Given the description of an element on the screen output the (x, y) to click on. 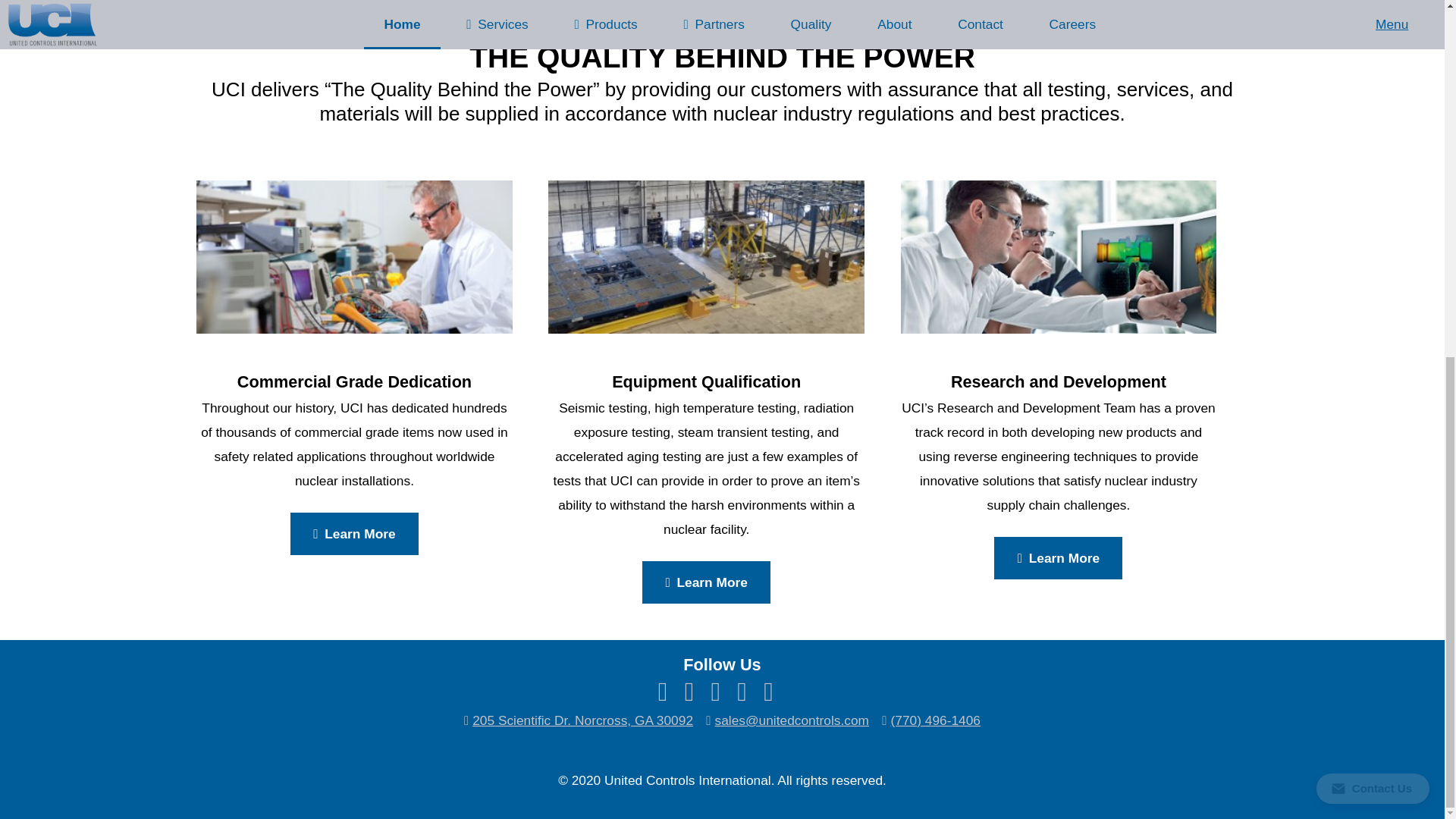
Learn More (354, 533)
Learn More (706, 582)
205 Scientific Dr. Norcross, GA 30092 (582, 720)
Learn More (1058, 558)
